Given the description of an element on the screen output the (x, y) to click on. 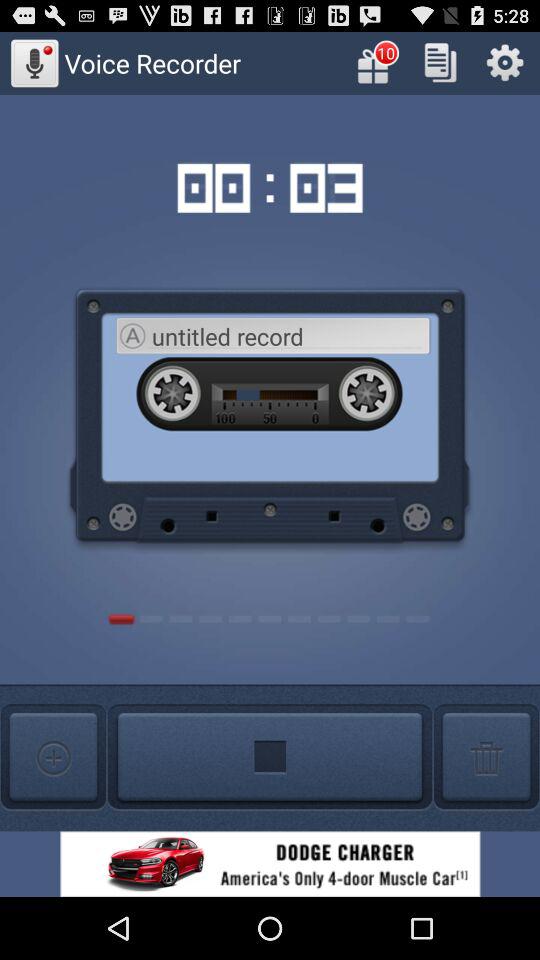
click to delete option (486, 757)
